Given the description of an element on the screen output the (x, y) to click on. 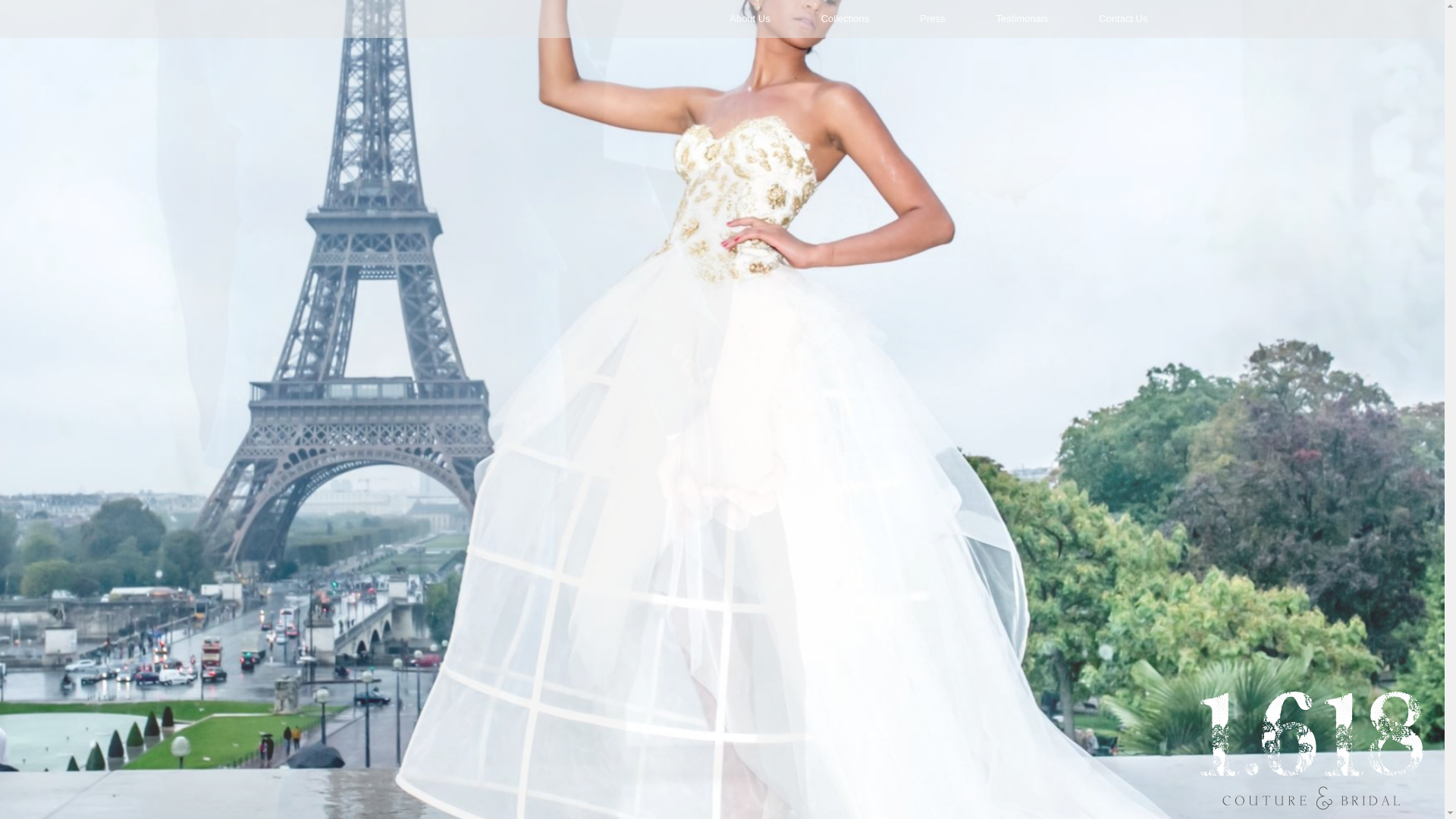
Collections Element type: text (845, 18)
Testimonals Element type: text (1022, 18)
Contact Us Element type: text (1123, 18)
Press Element type: text (932, 18)
About Us Element type: text (749, 18)
